Given the description of an element on the screen output the (x, y) to click on. 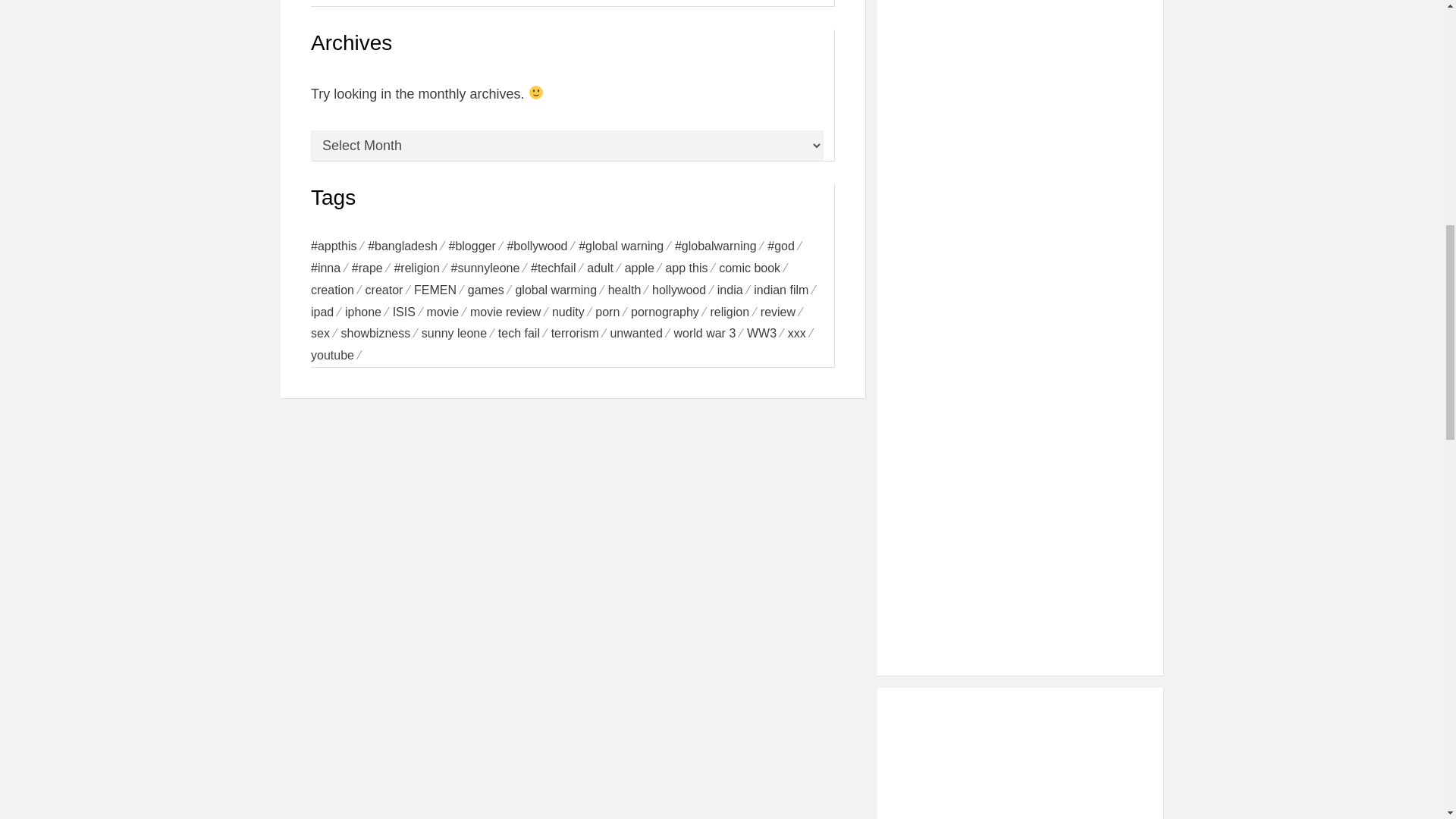
comic book (755, 268)
app this (692, 268)
apple (644, 268)
adult (605, 268)
